Given the description of an element on the screen output the (x, y) to click on. 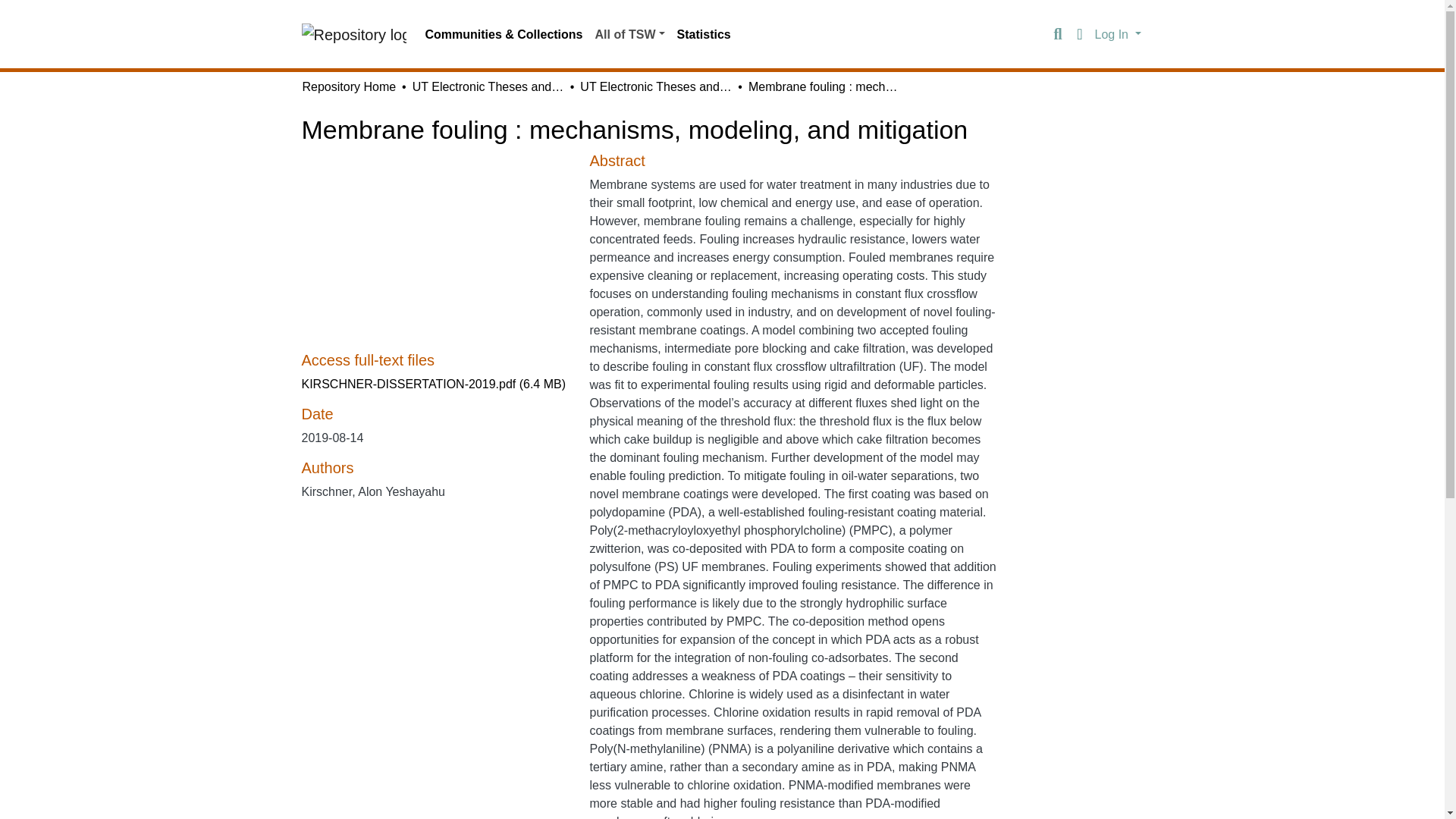
Repository Home (348, 86)
All of TSW (628, 34)
Language switch (1079, 34)
Log In (1117, 33)
Search (1057, 34)
Statistics (703, 34)
Statistics (703, 34)
UT Electronic Theses and Dissertations (488, 86)
UT Electronic Theses and Dissertations (655, 86)
